Given the description of an element on the screen output the (x, y) to click on. 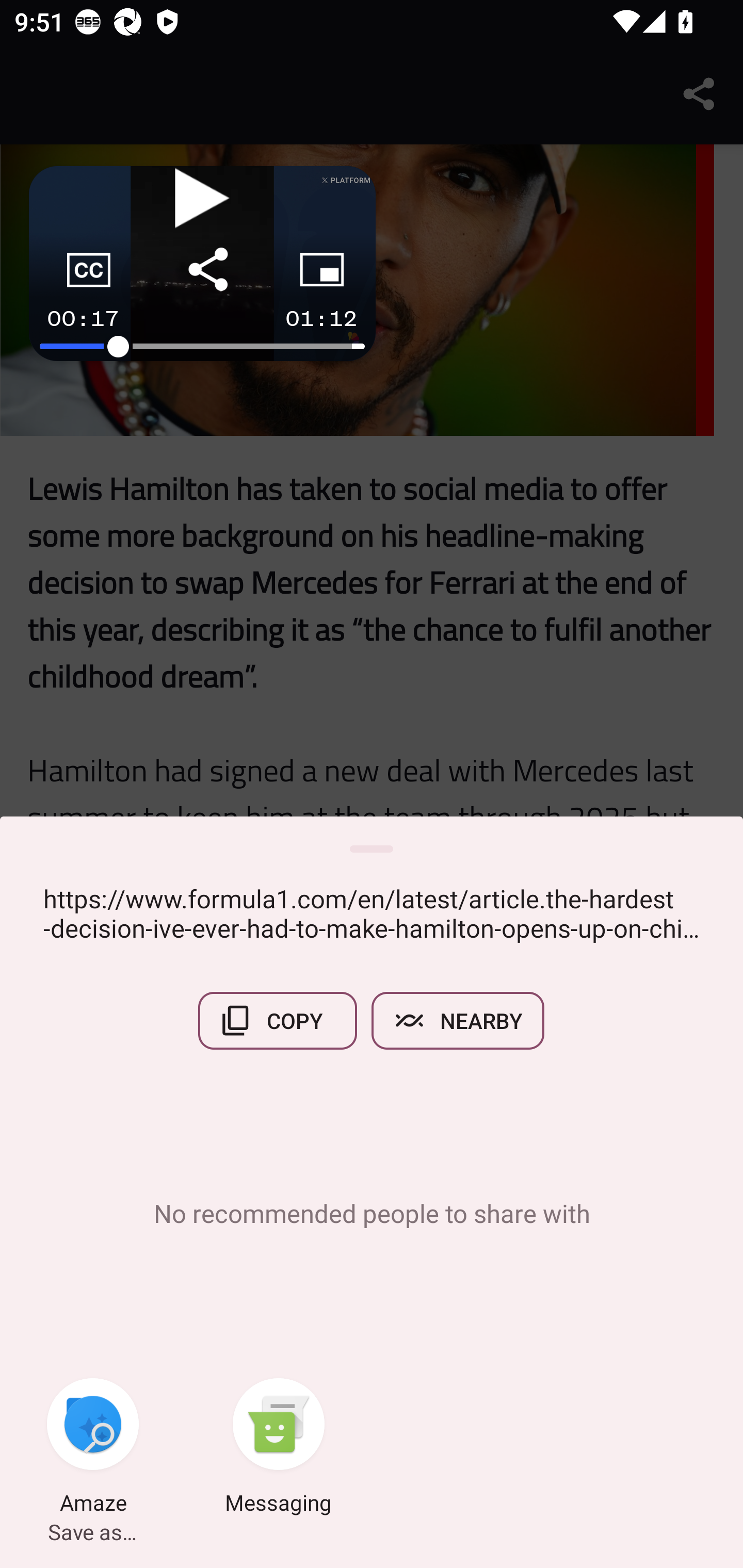
COPY (277, 1020)
NEARBY (457, 1020)
Amaze Save as… (92, 1448)
Messaging (278, 1448)
